Given the description of an element on the screen output the (x, y) to click on. 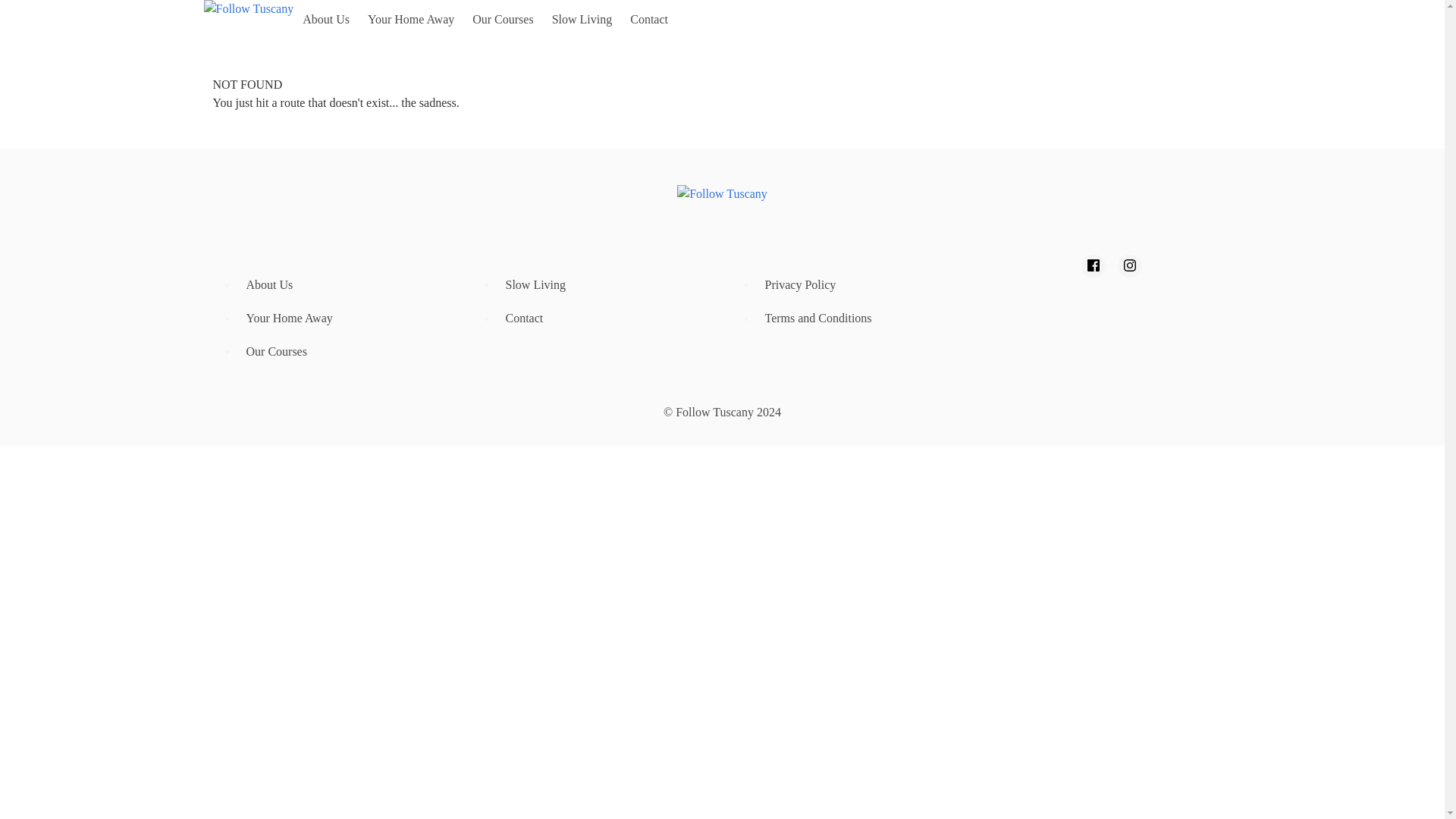
Our Courses (343, 351)
instagram (1129, 265)
Privacy Policy (863, 285)
Logo (248, 19)
Slow Living (582, 19)
Your Home Away (343, 318)
Contact (649, 19)
About Us (343, 285)
facebook (1093, 265)
Terms and Conditions (863, 318)
Our Courses (502, 19)
Slow Living (604, 285)
Your Home Away (410, 19)
Contact (604, 318)
Logo (722, 193)
